Given the description of an element on the screen output the (x, y) to click on. 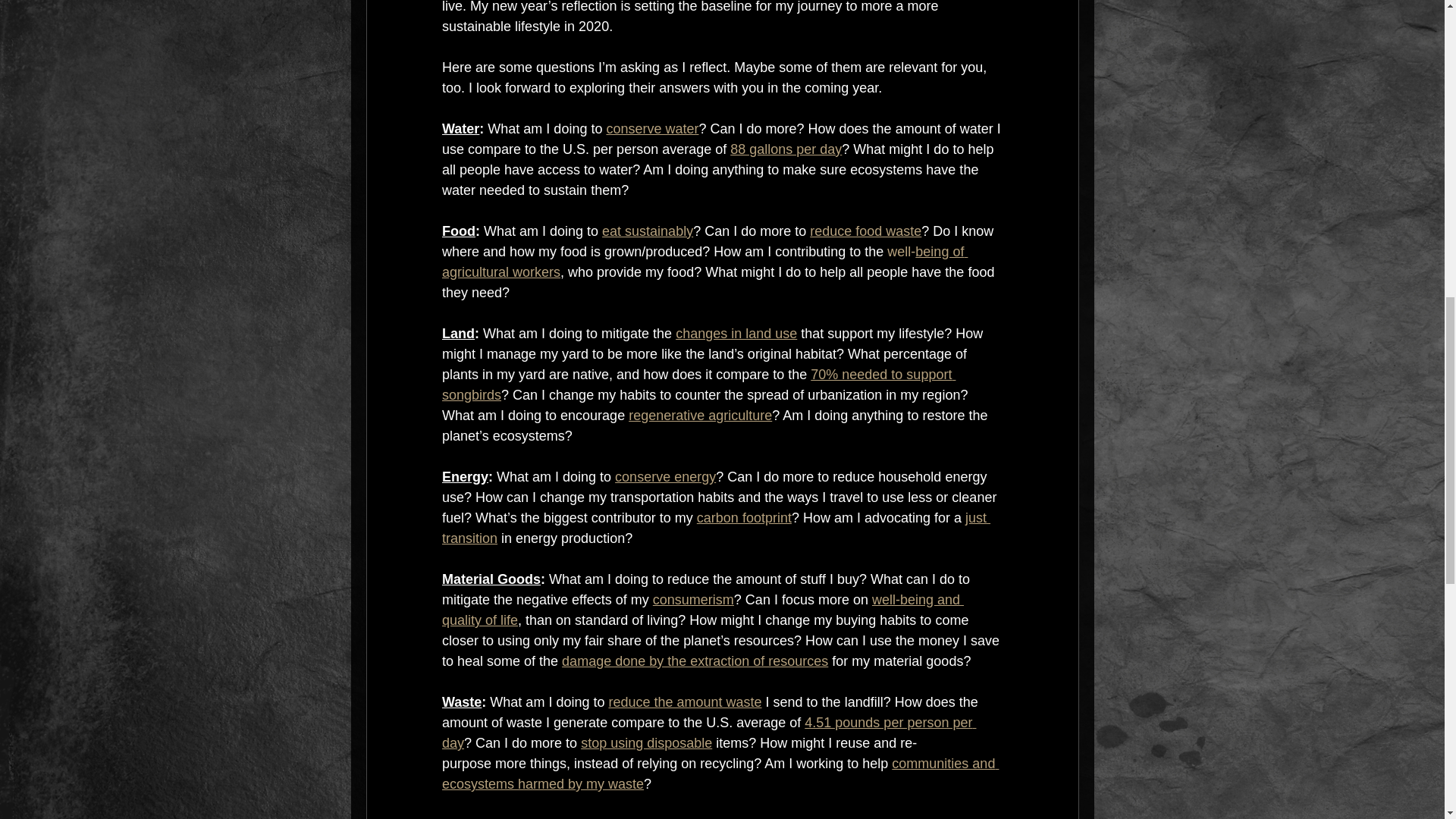
consumerism (692, 599)
stop using disposable (645, 743)
well- (900, 251)
88 gallons per day (785, 149)
damage done by the extraction of resources (695, 661)
eat sustainably (647, 231)
being of agricultural workers (703, 262)
reduce food waste (865, 231)
conserve energy (665, 476)
changes in land use (735, 333)
